Given the description of an element on the screen output the (x, y) to click on. 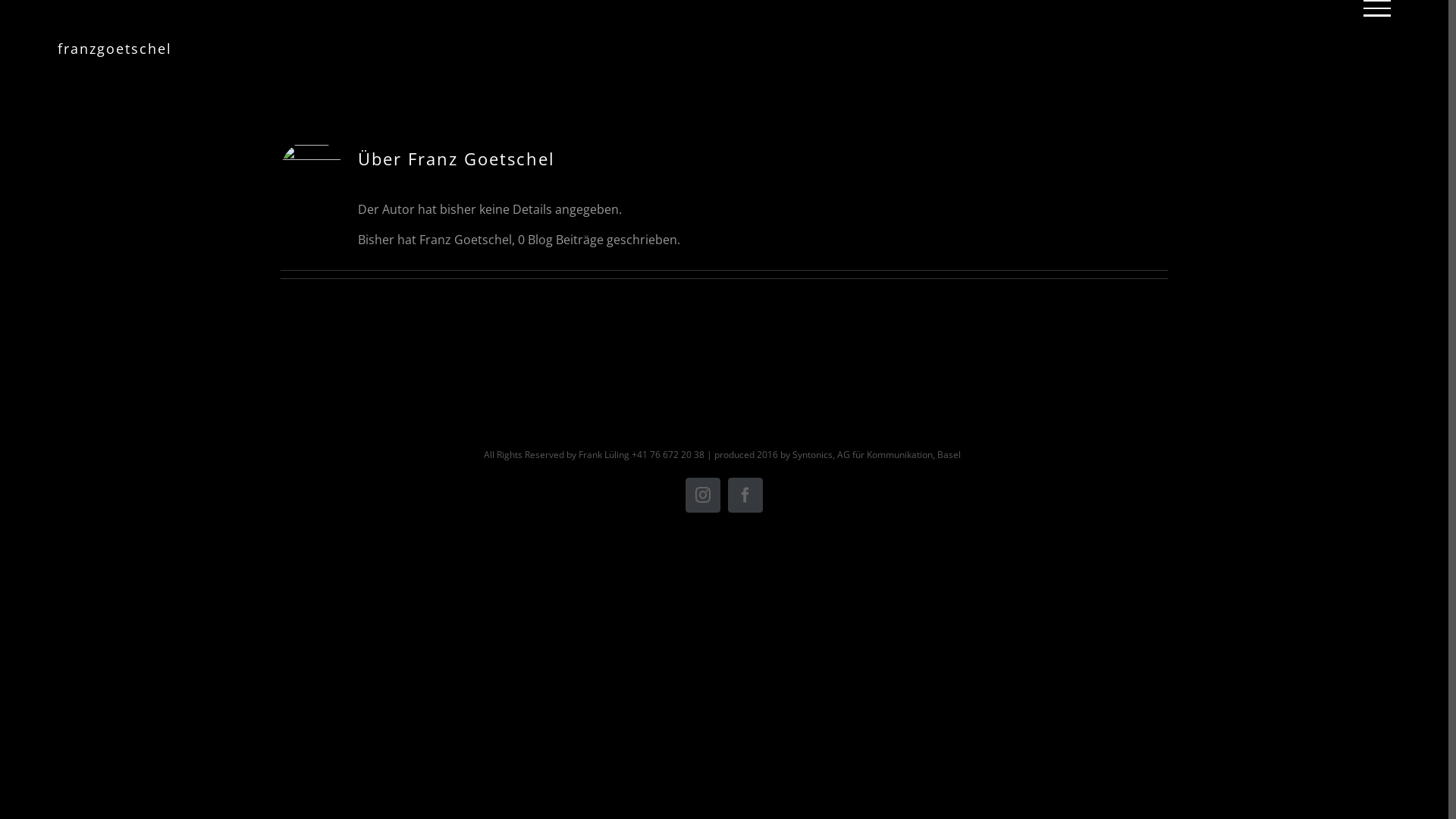
Facebook Element type: text (745, 494)
Instagram Element type: text (702, 494)
